Given the description of an element on the screen output the (x, y) to click on. 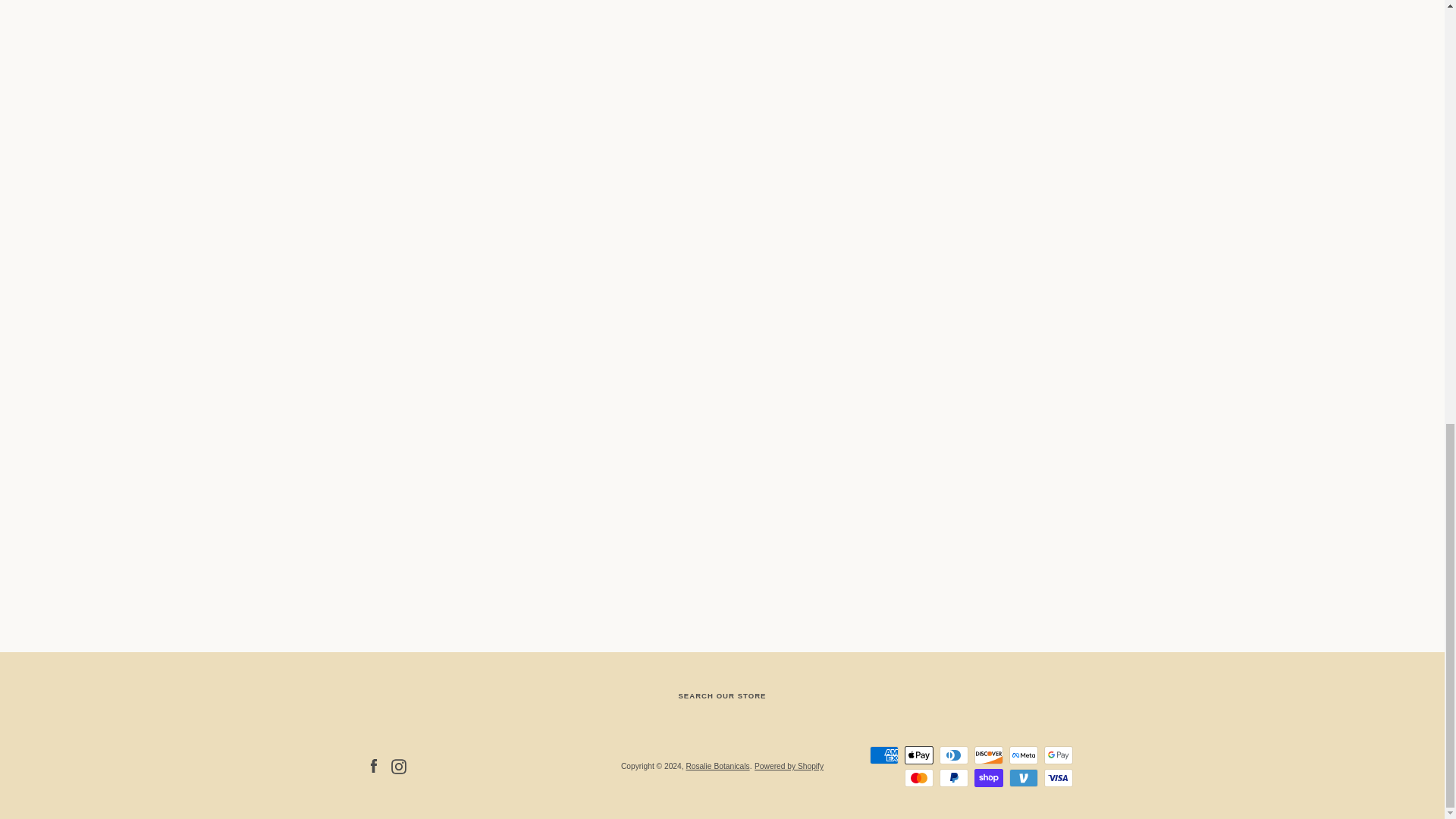
American Express (883, 755)
Meta Pay (1022, 755)
Venmo (1022, 778)
Rosalie Botanicals on Facebook (372, 765)
Mastercard (918, 778)
Apple Pay (918, 755)
Shop Pay (988, 778)
Google Pay (1057, 755)
Rosalie Botanicals on Instagram (398, 765)
PayPal (953, 778)
